Given the description of an element on the screen output the (x, y) to click on. 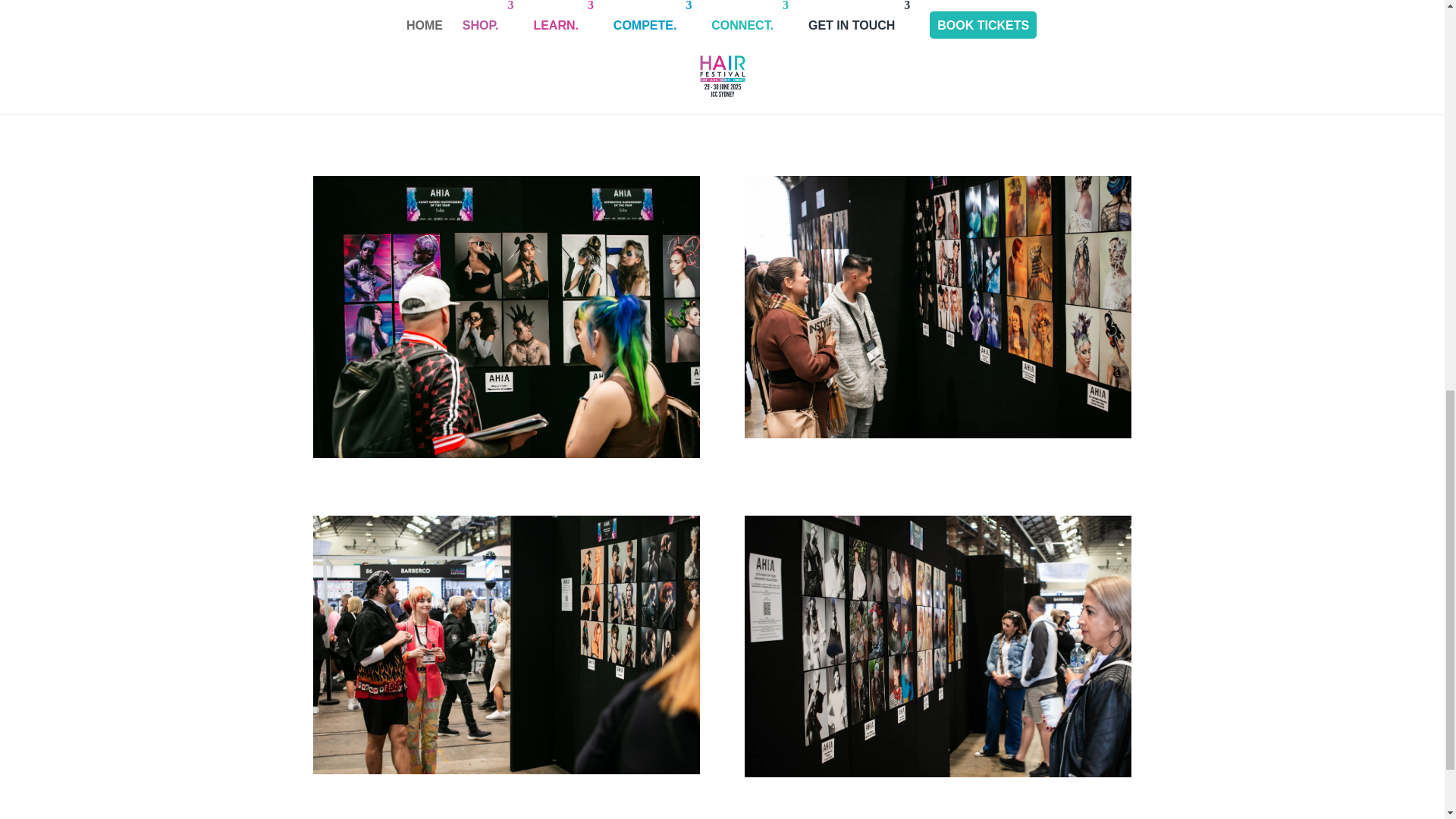
Hair-Festival-2023-Day-One-0289 (505, 316)
Hair-Festival-2023-Day-One-0409 (505, 644)
Mocha Group (721, 59)
Hair-Festival-2023-Day-One-0405 (937, 646)
Hair-Festival-2023-Day-One-0214 (937, 307)
